Given the description of an element on the screen output the (x, y) to click on. 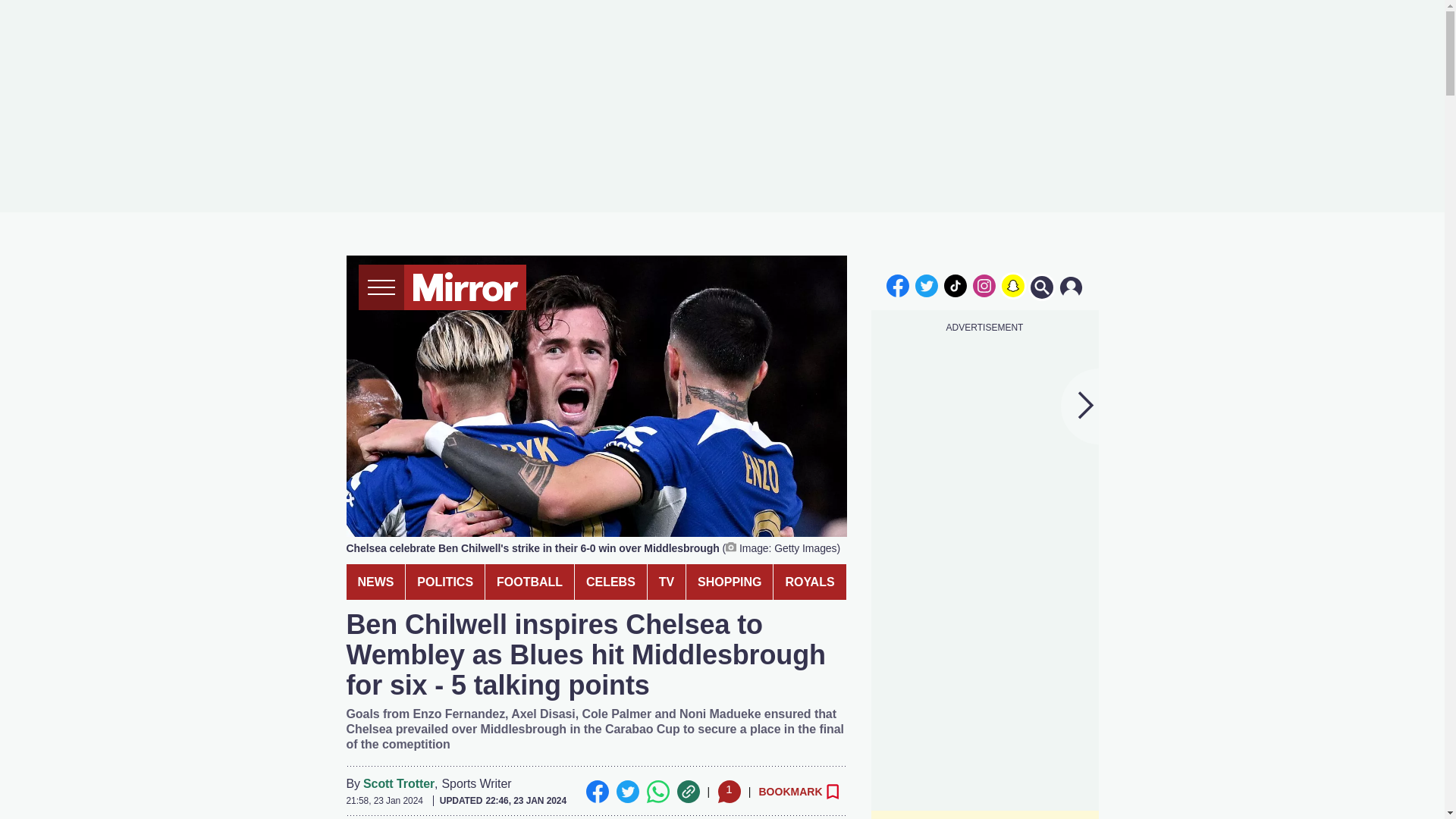
twitter (926, 285)
instagram (984, 285)
tiktok (955, 285)
Facebook (596, 791)
snapchat (1012, 285)
Twitter (627, 791)
facebook (897, 285)
